Given the description of an element on the screen output the (x, y) to click on. 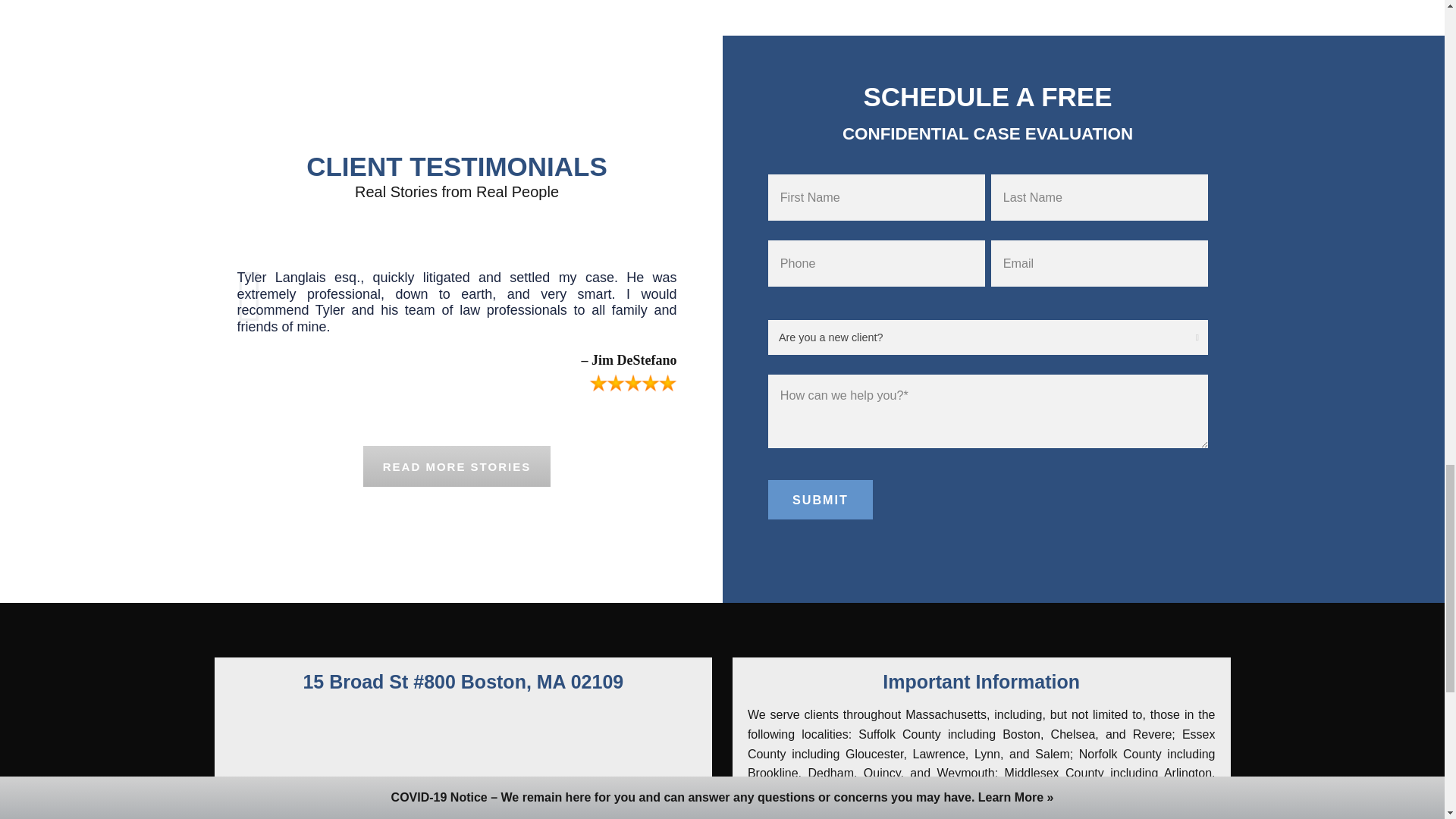
READ MORE STORIES (456, 465)
SUBMIT (819, 499)
